Given the description of an element on the screen output the (x, y) to click on. 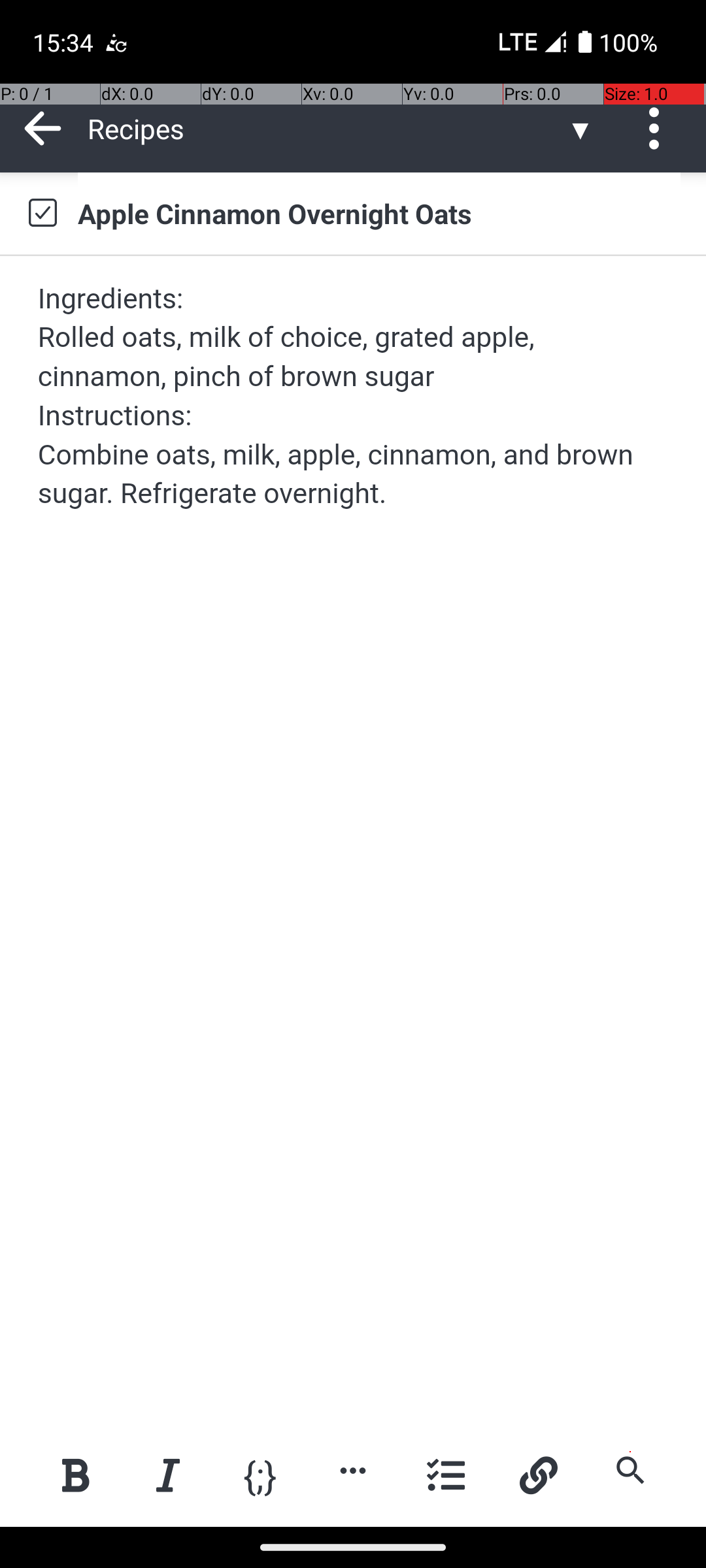
Apple Cinnamon Overnight Oats Element type: android.widget.EditText (378, 213)
Ingredients:
Rolled oats, milk of choice, grated apple, cinnamon, pinch of brown sugar
Instructions:
Combine oats, milk, apple, cinnamon, and brown sugar. Refrigerate overnight. Element type: android.widget.EditText (354, 396)
